Given the description of an element on the screen output the (x, y) to click on. 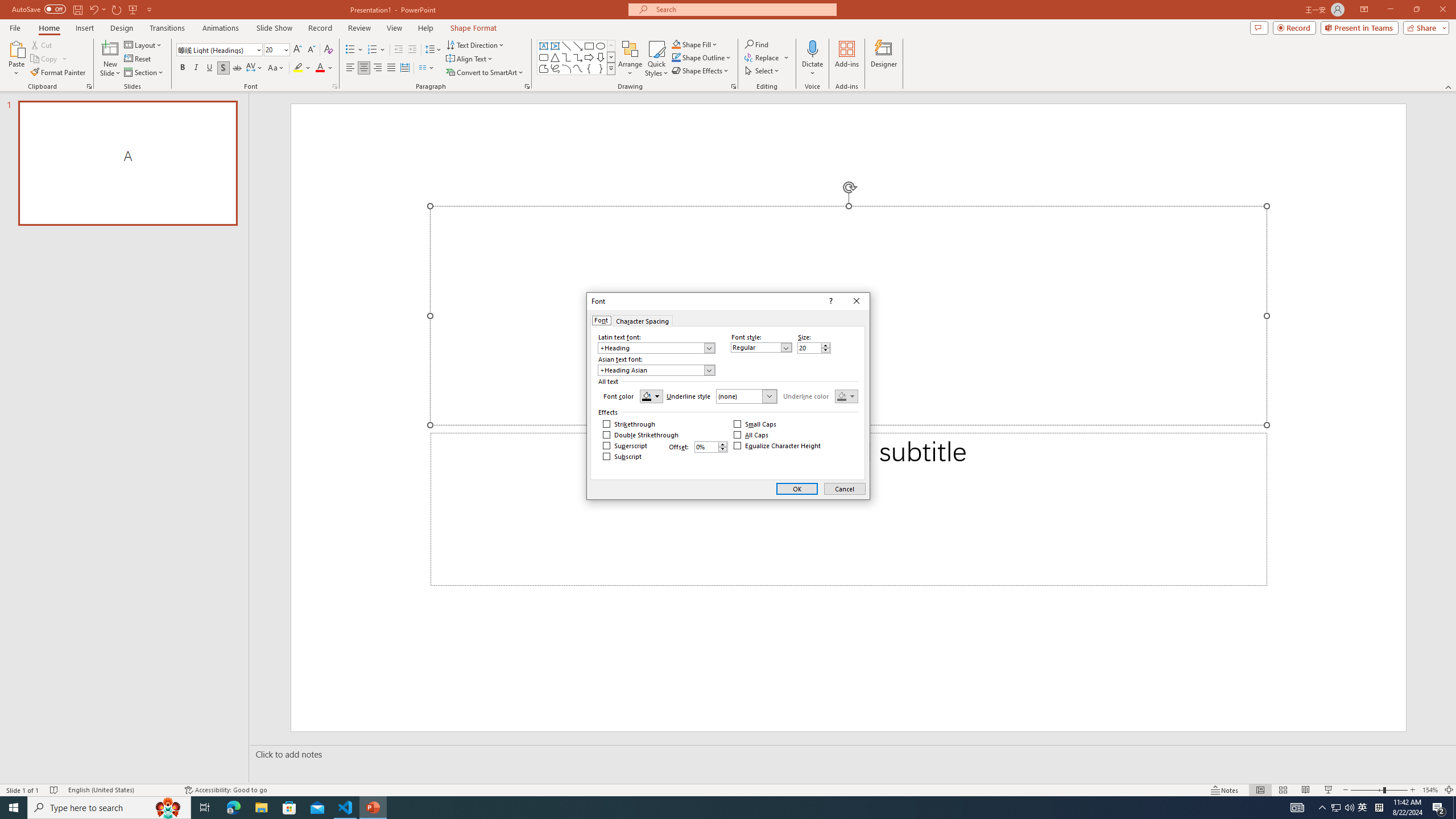
Size (809, 347)
Double Strikethrough (640, 434)
